Given the description of an element on the screen output the (x, y) to click on. 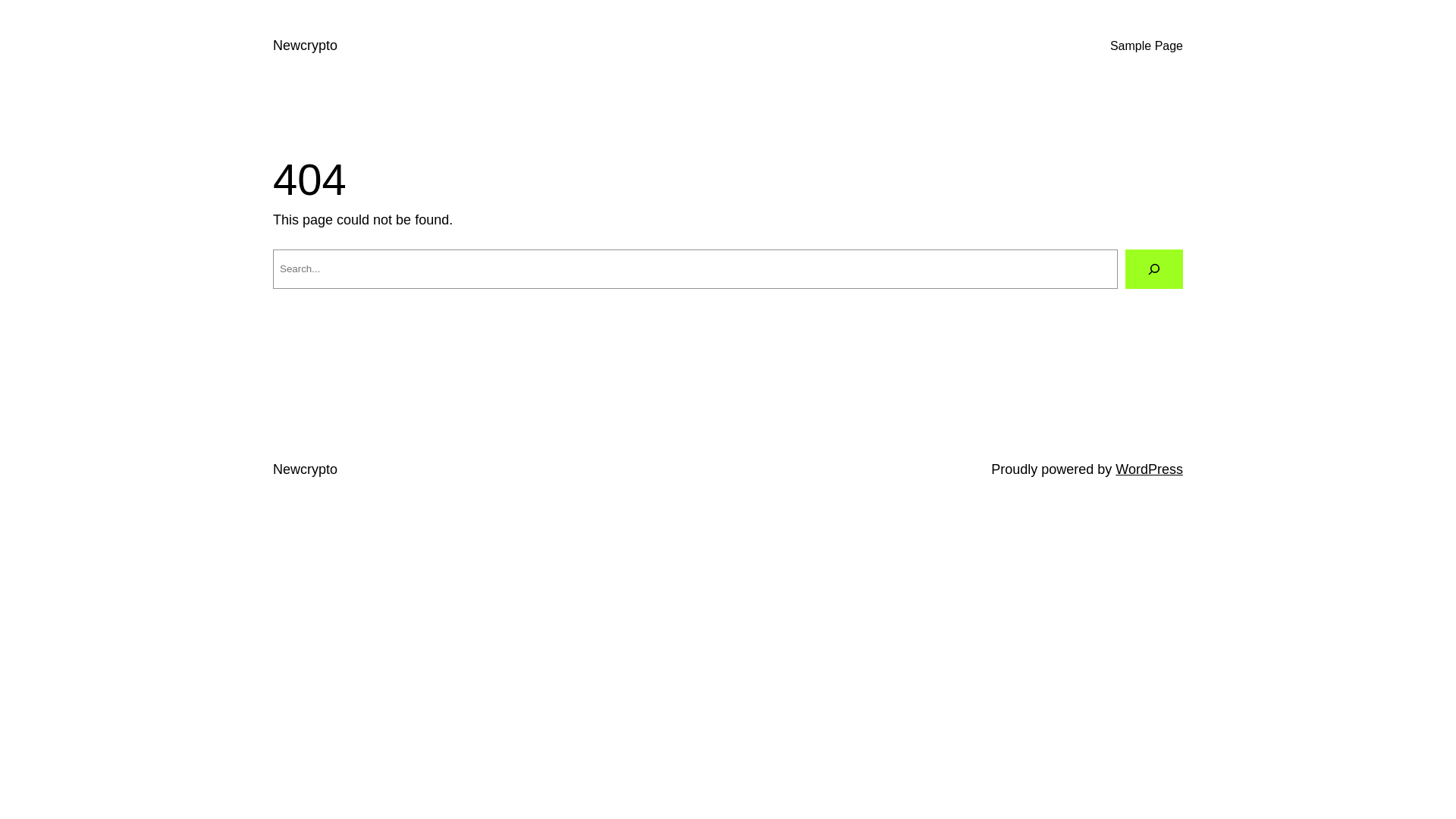
Newcrypto Element type: text (305, 468)
Newcrypto Element type: text (305, 45)
WordPress Element type: text (1149, 468)
Sample Page Element type: text (1146, 46)
